Given the description of an element on the screen output the (x, y) to click on. 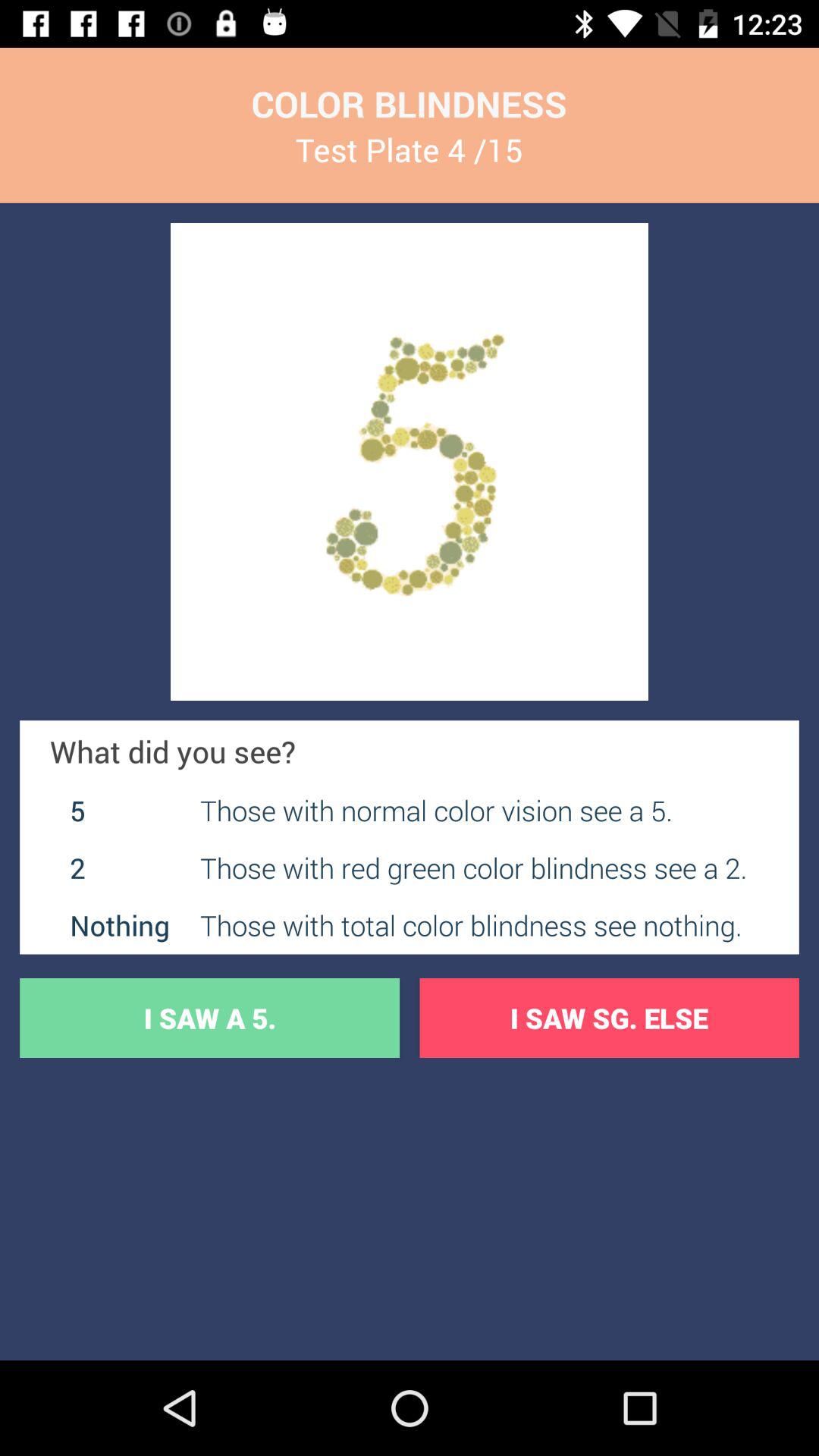
select the image which is at middle of page (409, 461)
